Given the description of an element on the screen output the (x, y) to click on. 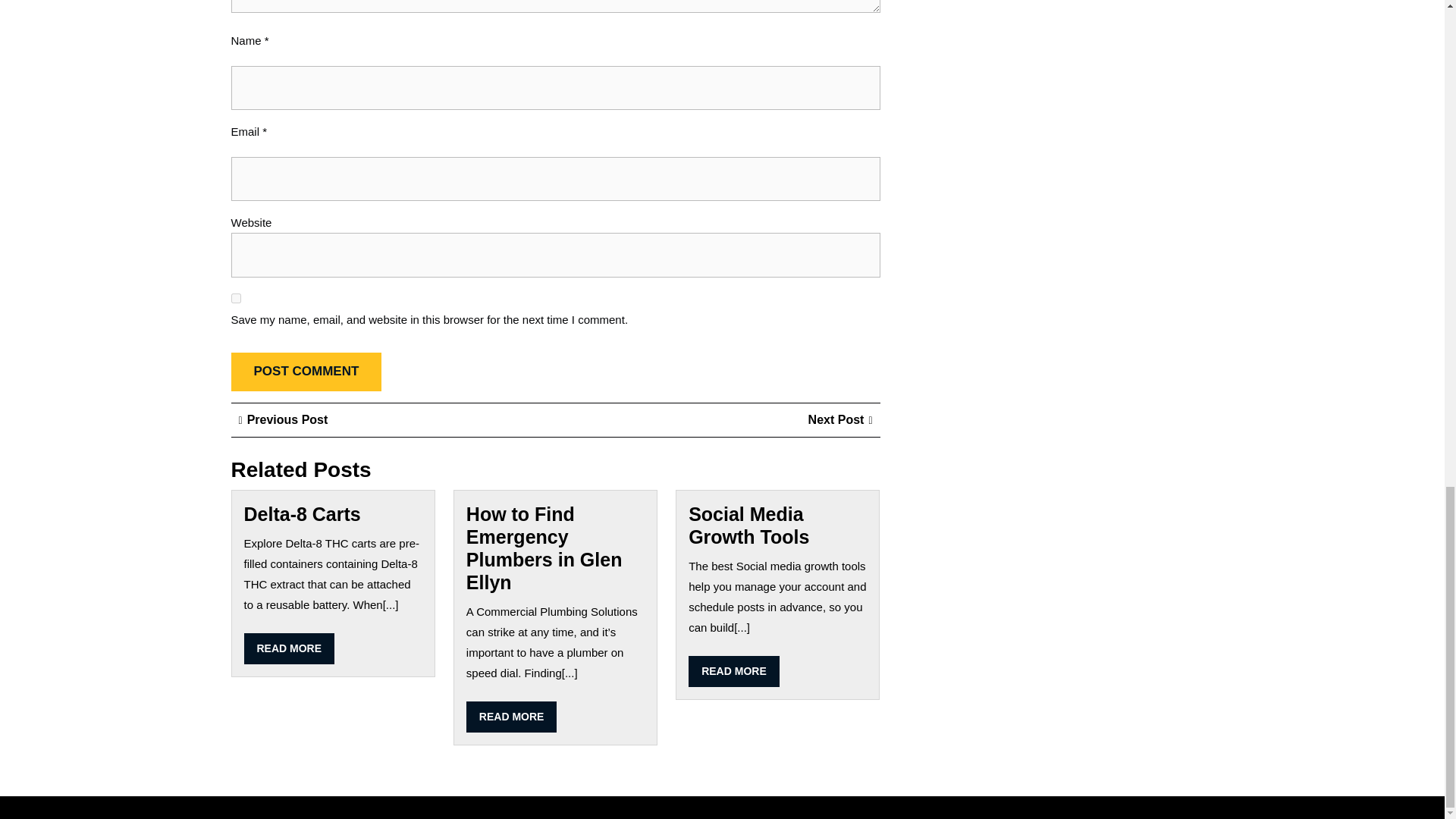
Social Media Growth Tools (289, 648)
Delta-8 Carts (748, 525)
Post Comment (840, 419)
Post Comment (302, 513)
How to Find Emergency Plumbers in Glen Ellyn (733, 671)
yes (305, 371)
